Given the description of an element on the screen output the (x, y) to click on. 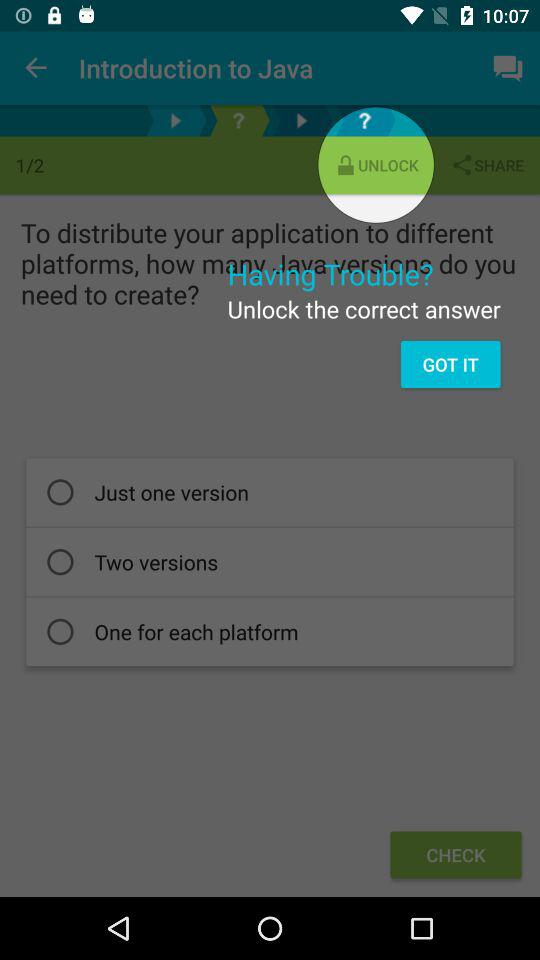
play this button (175, 120)
